Given the description of an element on the screen output the (x, y) to click on. 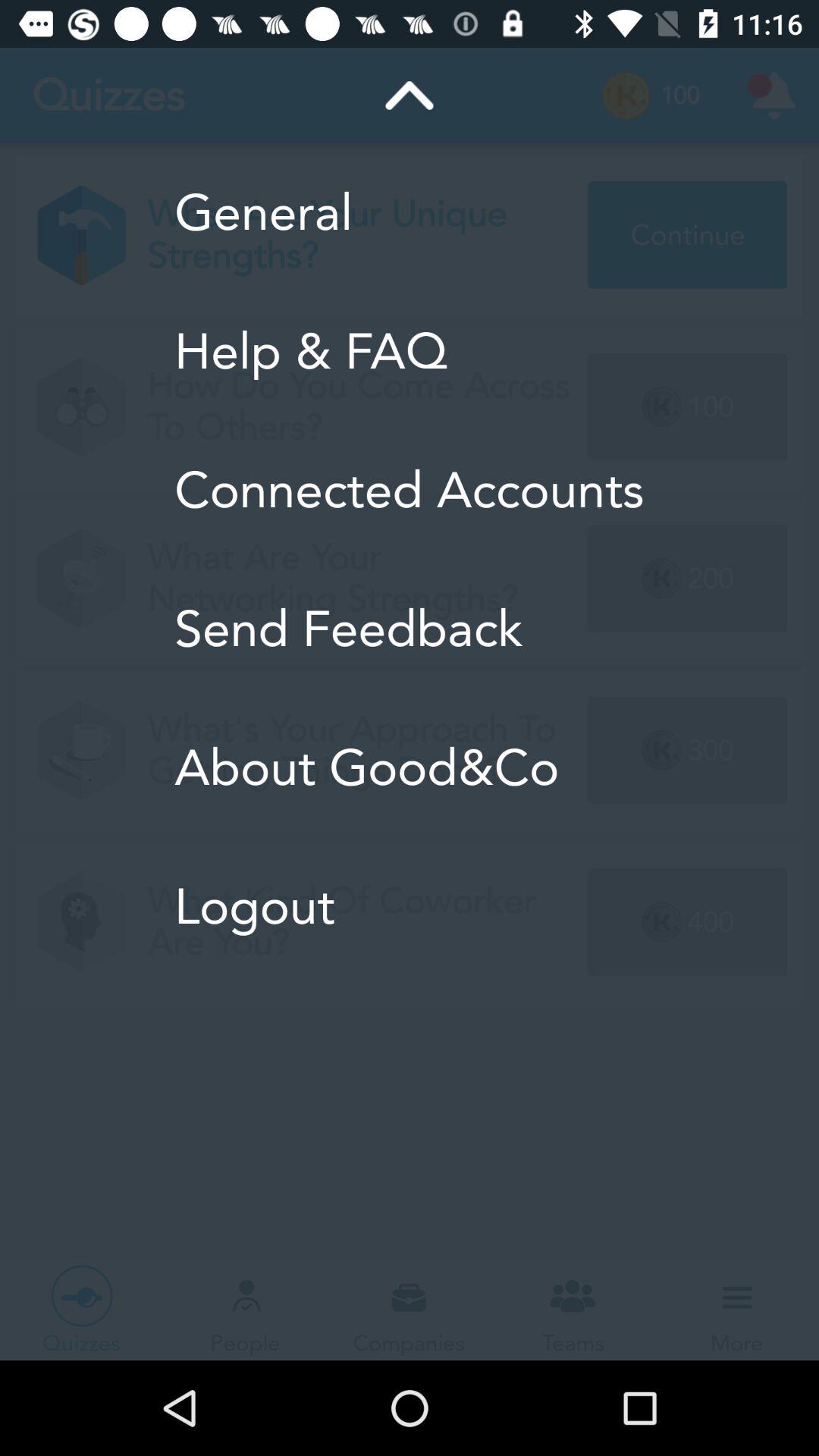
open the about good&co icon (408, 767)
